Given the description of an element on the screen output the (x, y) to click on. 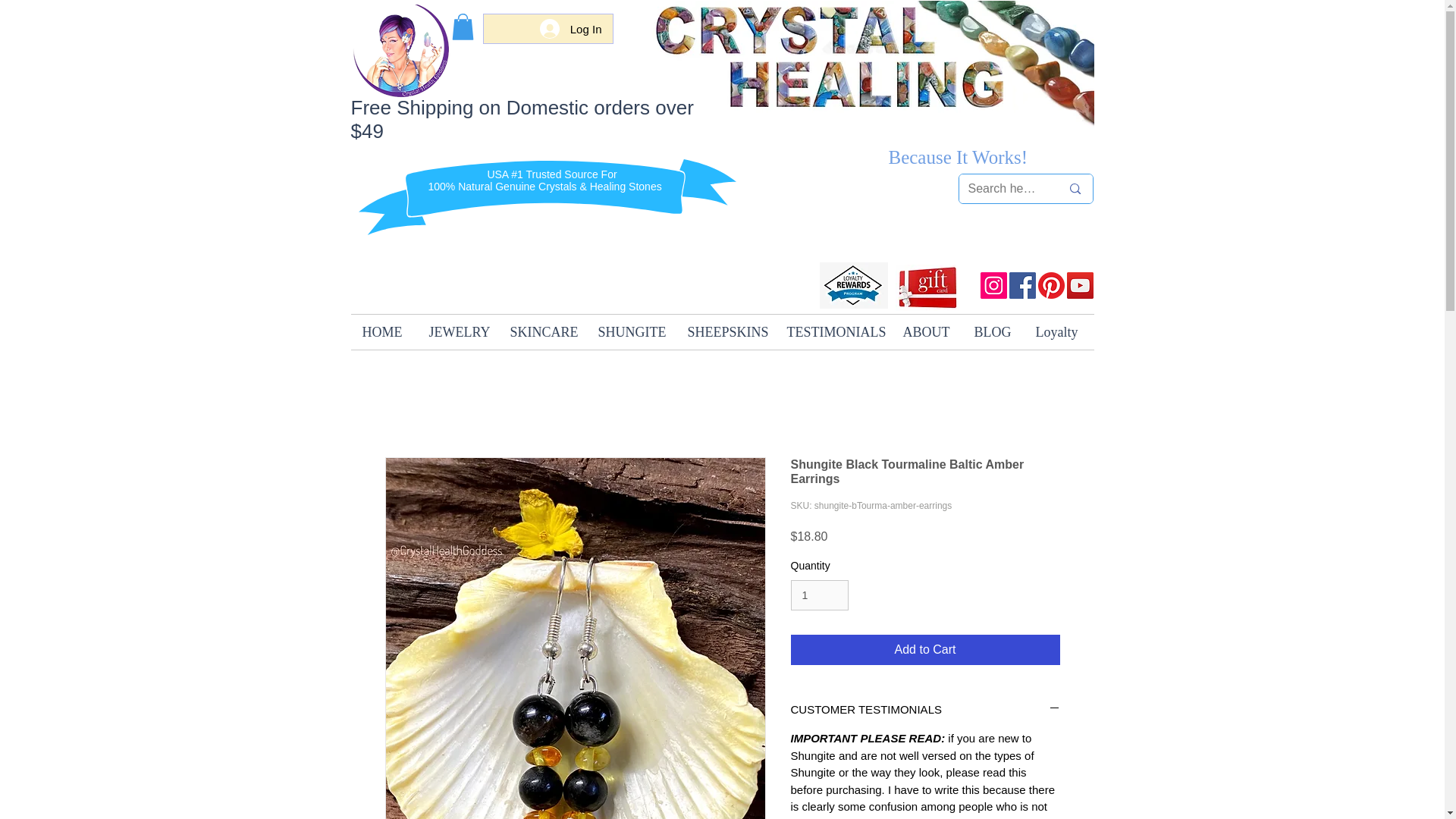
1 (818, 594)
Log In (570, 28)
HOME (383, 331)
JEWELRY (456, 331)
SKINCARE (542, 331)
SHUNGITE (631, 331)
